Given the description of an element on the screen output the (x, y) to click on. 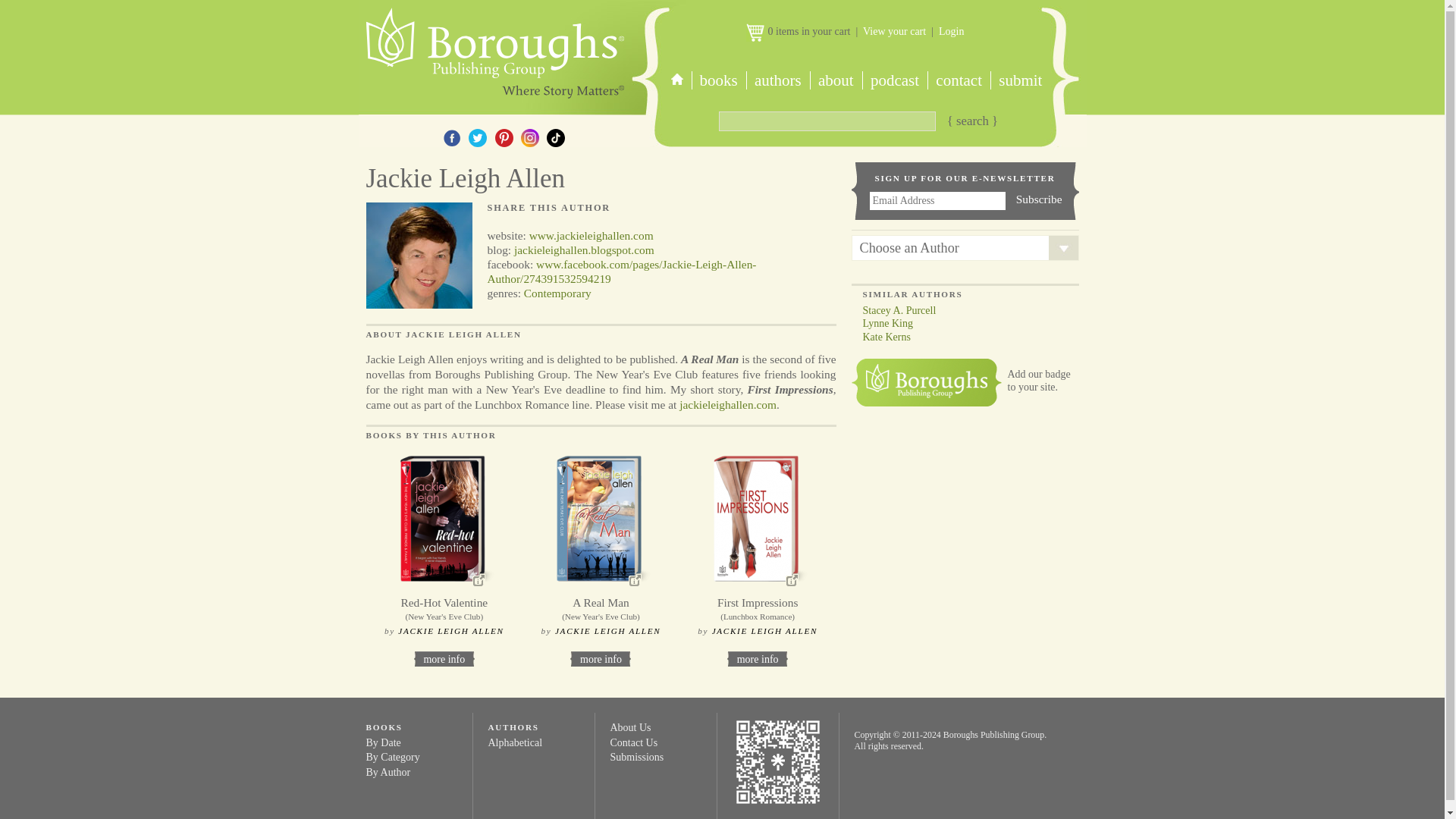
about (835, 80)
Home (493, 49)
Contemporary (557, 292)
Login (951, 30)
contact (958, 80)
books (718, 80)
authors (777, 80)
submit (1019, 80)
jackieleighallen.blogspot.com (583, 249)
more info (443, 658)
Enter the terms you wish to search for. (827, 121)
www.jackieleighallen.com (591, 235)
